Given the description of an element on the screen output the (x, y) to click on. 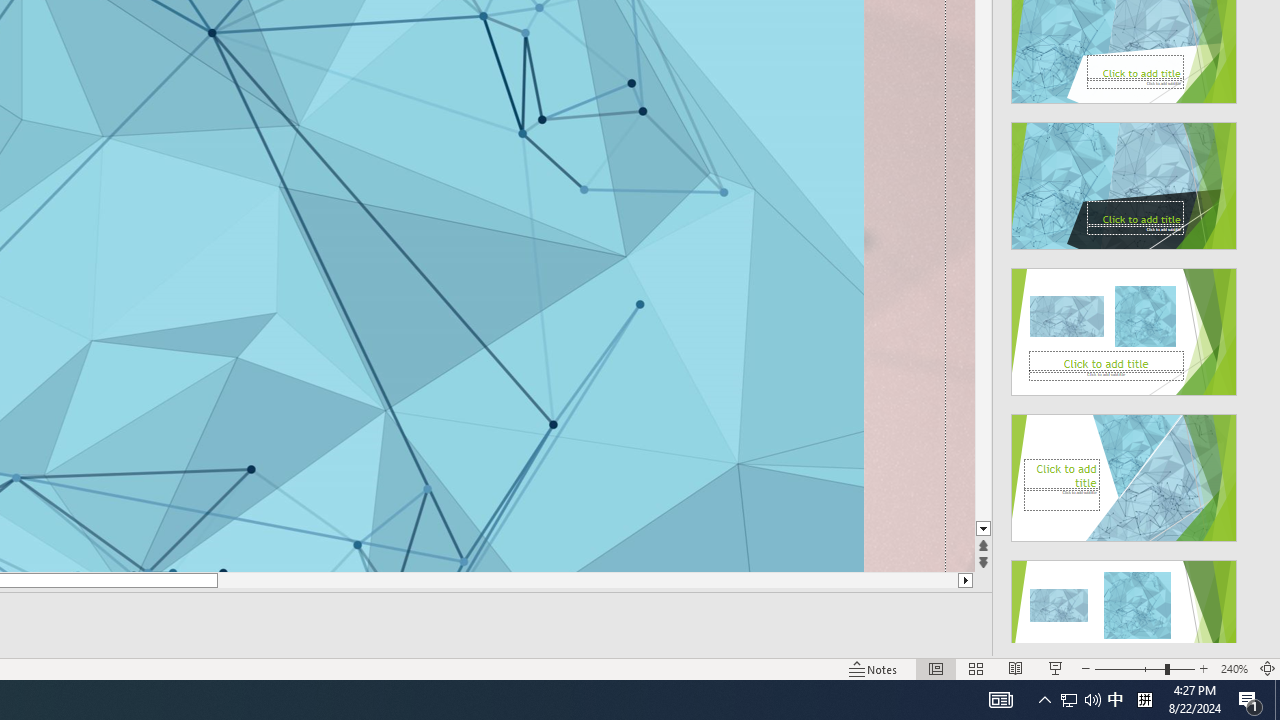
Zoom 240% (1234, 668)
